Given the description of an element on the screen output the (x, y) to click on. 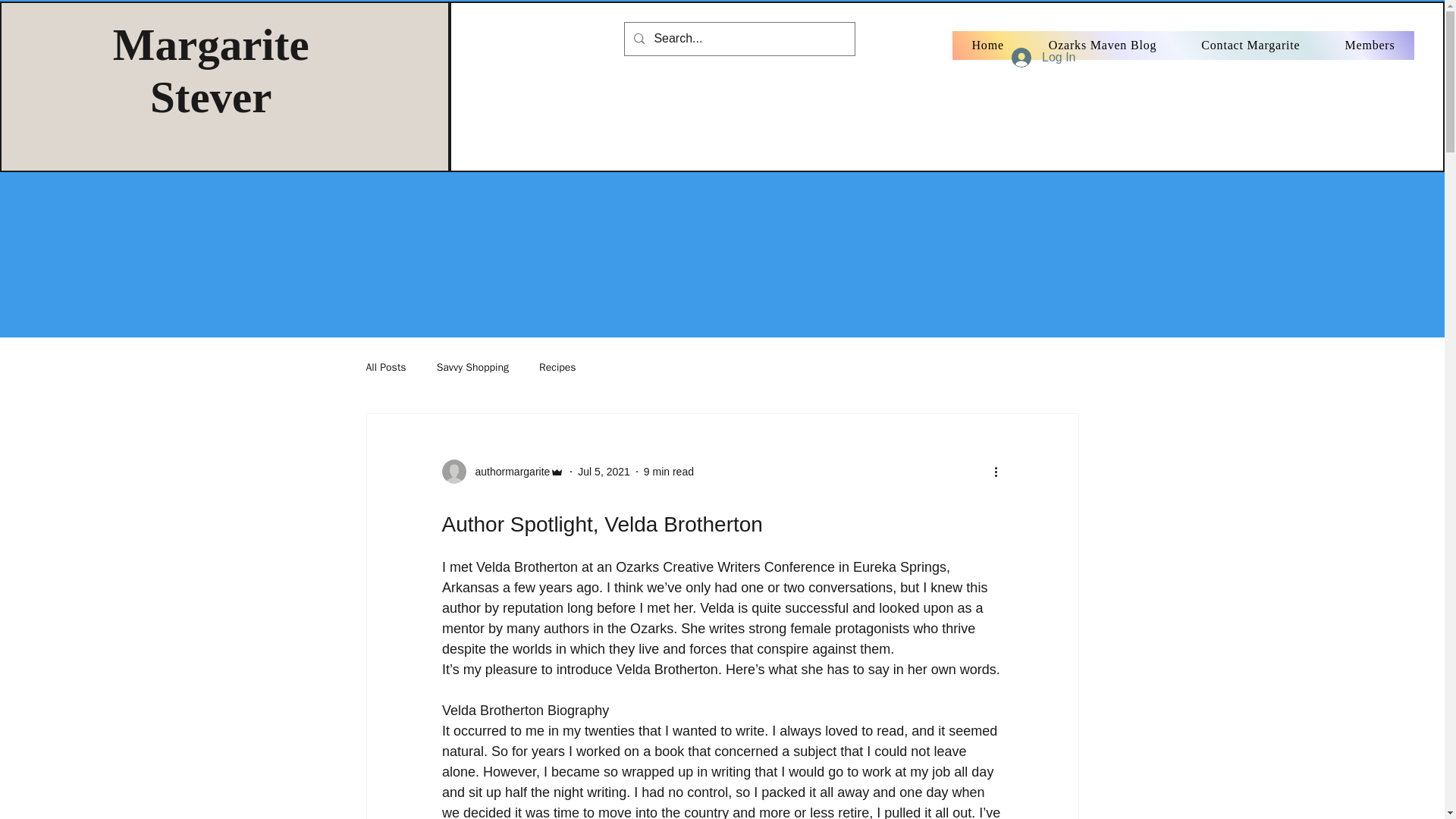
Jul 5, 2021 (604, 471)
All Posts (385, 367)
Home (987, 45)
authormargarite (502, 471)
Contact Margarite (1250, 45)
Log In (1043, 57)
Recipes (557, 367)
Ozarks Maven Blog (1101, 45)
9 min read (668, 471)
Members (1368, 45)
authormargarite (507, 471)
Margarite Stever (210, 70)
Savvy Shopping (472, 367)
